Given the description of an element on the screen output the (x, y) to click on. 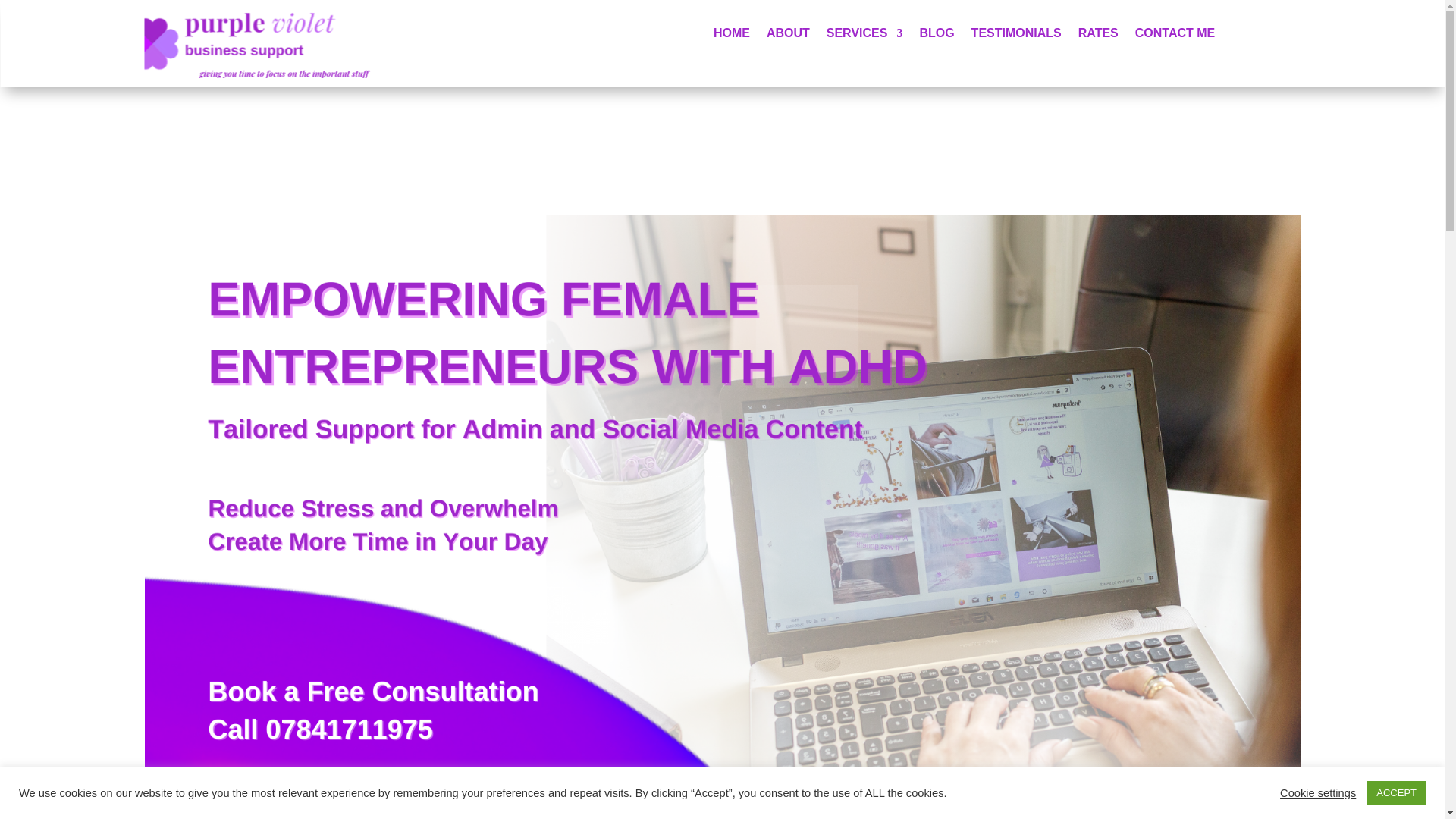
ABOUT (788, 36)
HOME (731, 36)
Cookie settings (1317, 792)
BLOG (935, 36)
CONTACT ME (1174, 36)
TESTIMONIALS (1016, 36)
SERVICES (864, 36)
RATES (1098, 36)
